Given the description of an element on the screen output the (x, y) to click on. 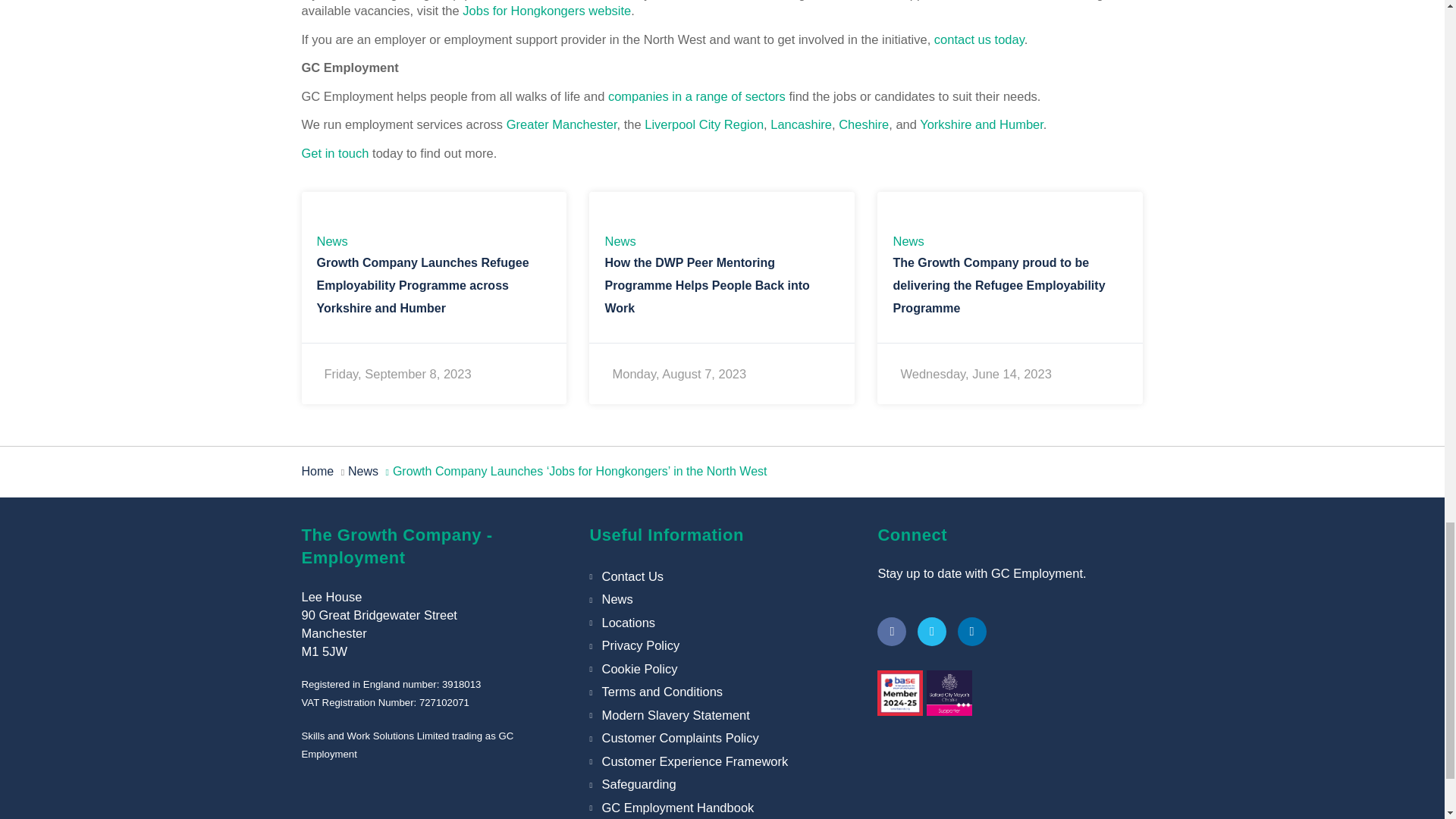
Cheshire (863, 124)
contact us today (979, 38)
Yorkshire and Humber (981, 124)
Greater Manchester (561, 124)
News (332, 241)
Liverpool City Region (703, 124)
Get in touch (335, 152)
Jobs for Hongkongers website (546, 10)
Lancashire (800, 124)
companies in a range of sectors (697, 96)
